Given the description of an element on the screen output the (x, y) to click on. 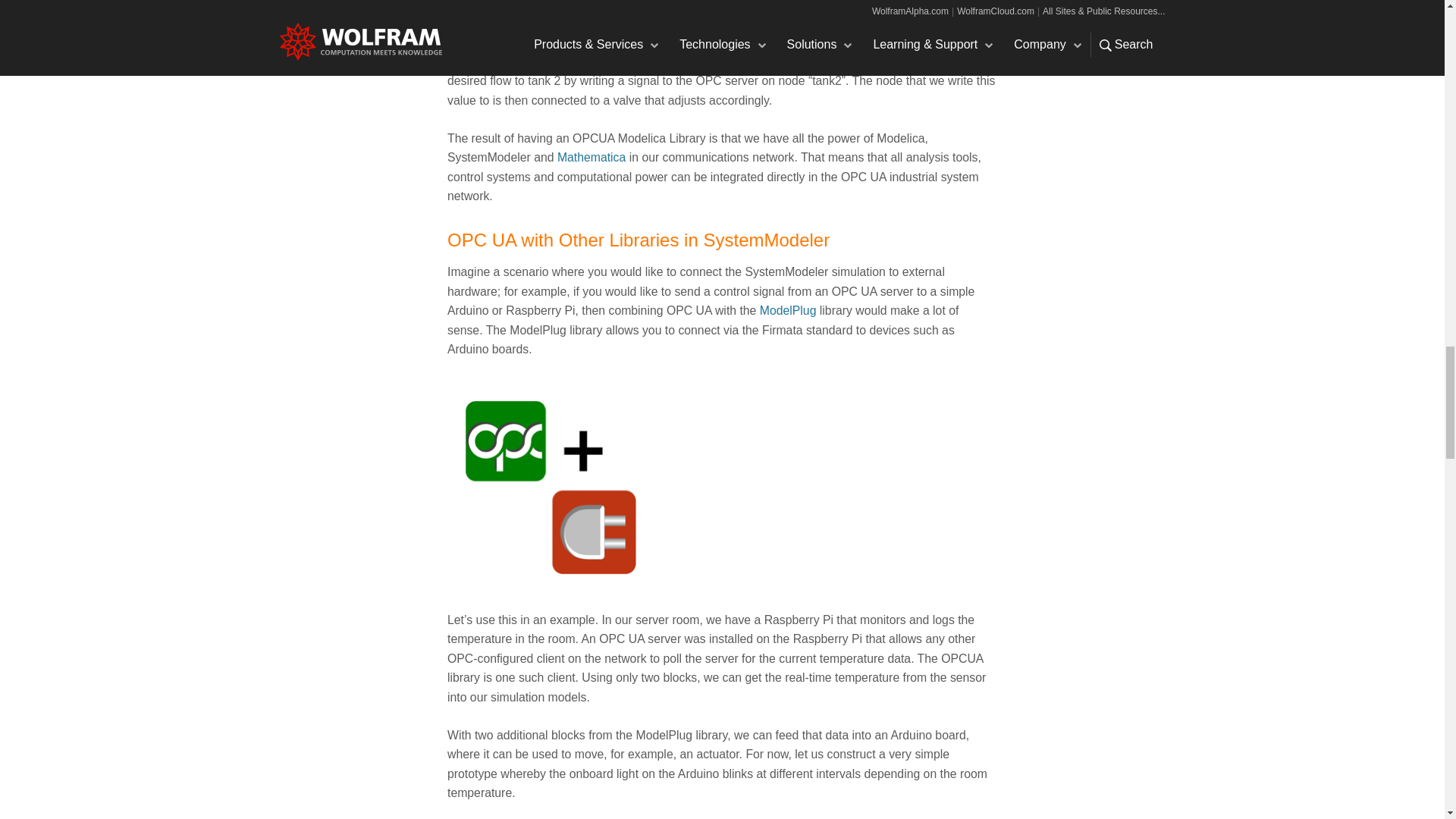
SystemModeler OPCUA ModelPlug (551, 481)
